Given the description of an element on the screen output the (x, y) to click on. 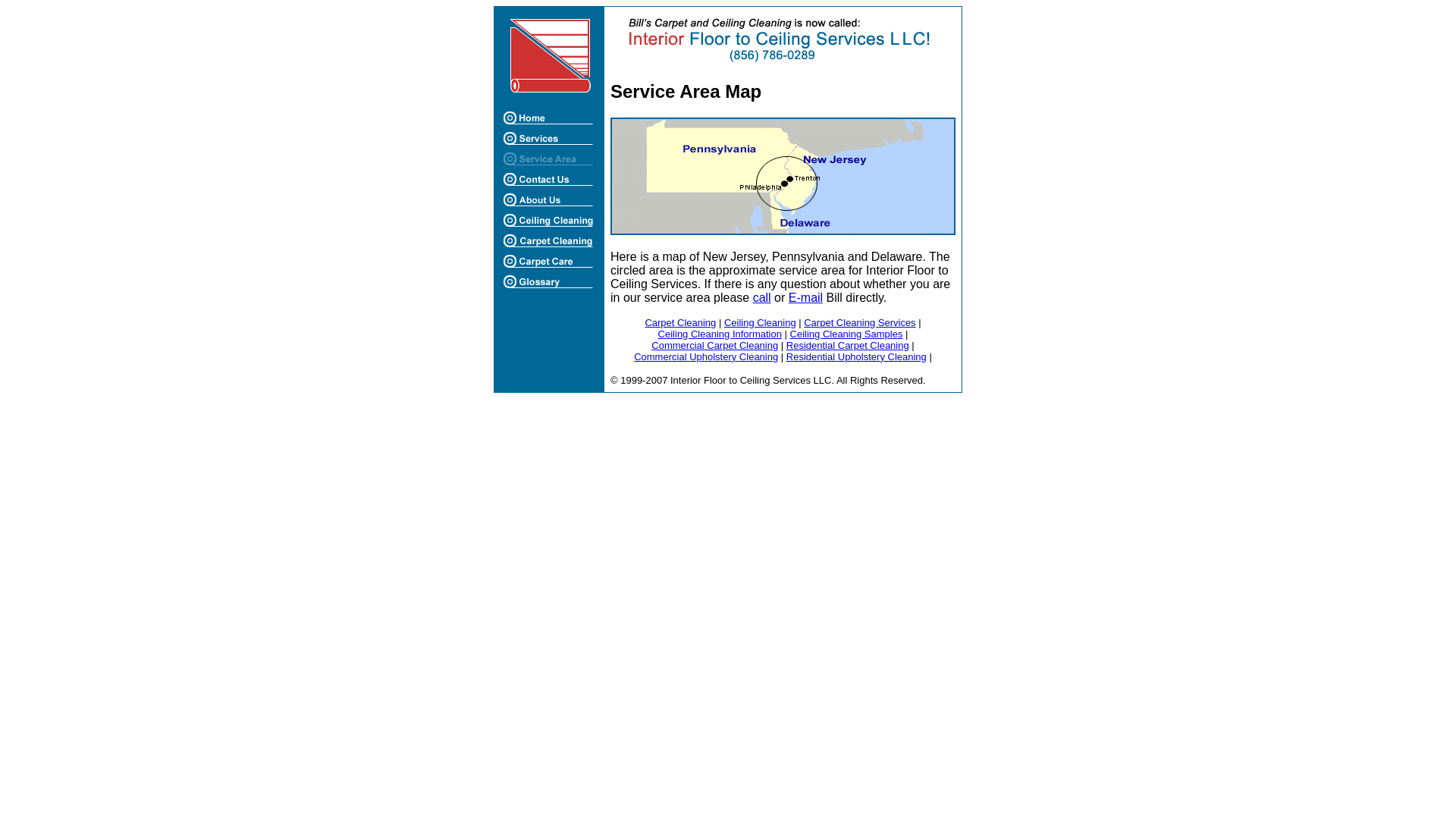
E-mail (805, 297)
Carpet Cleaning Services (859, 322)
Ceiling Cleaning Samples (846, 333)
Residential Upholstery Cleaning (856, 356)
Commercial Upholstery Cleaning (705, 356)
Commercial Carpet Cleaning (713, 345)
Ceiling Cleaning (759, 322)
Residential Carpet Cleaning (847, 345)
Carpet Cleaning (680, 322)
Ceiling Cleaning Information (719, 333)
call (761, 297)
